Given the description of an element on the screen output the (x, y) to click on. 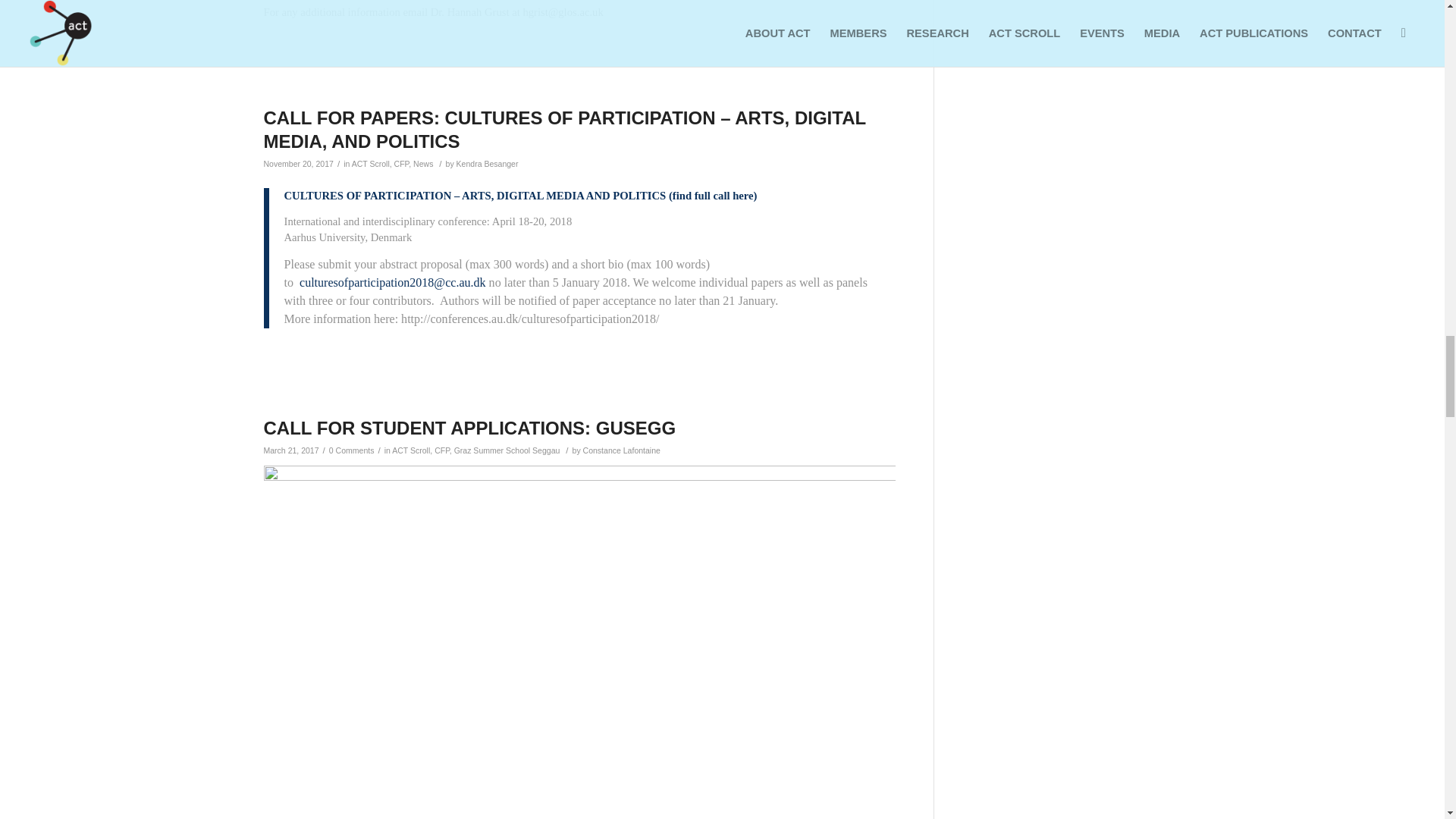
Posts by Kendra Besanger (487, 163)
Permanent Link: Call for student applications: GUSEGG (470, 427)
Posts by Constance Lafontaine (622, 450)
